Given the description of an element on the screen output the (x, y) to click on. 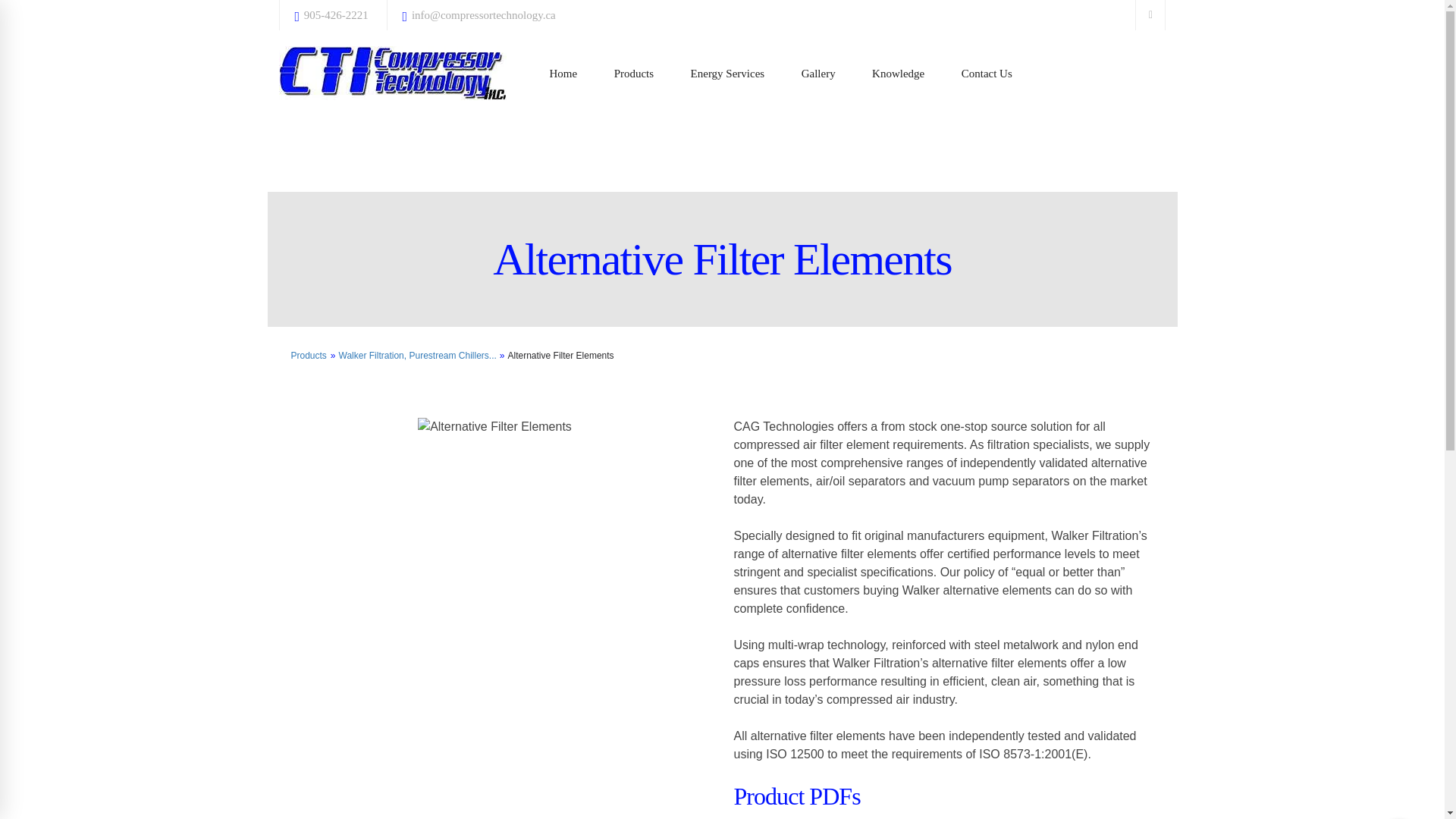
Products (308, 355)
Home (563, 73)
Products (633, 73)
Contact Us (986, 73)
Knowledge (898, 73)
Gallery (817, 73)
Alternative Filter Elements (561, 355)
Energy Services (727, 73)
Walker Filtration, Purestream Chillers... (417, 355)
Products (308, 355)
